Given the description of an element on the screen output the (x, y) to click on. 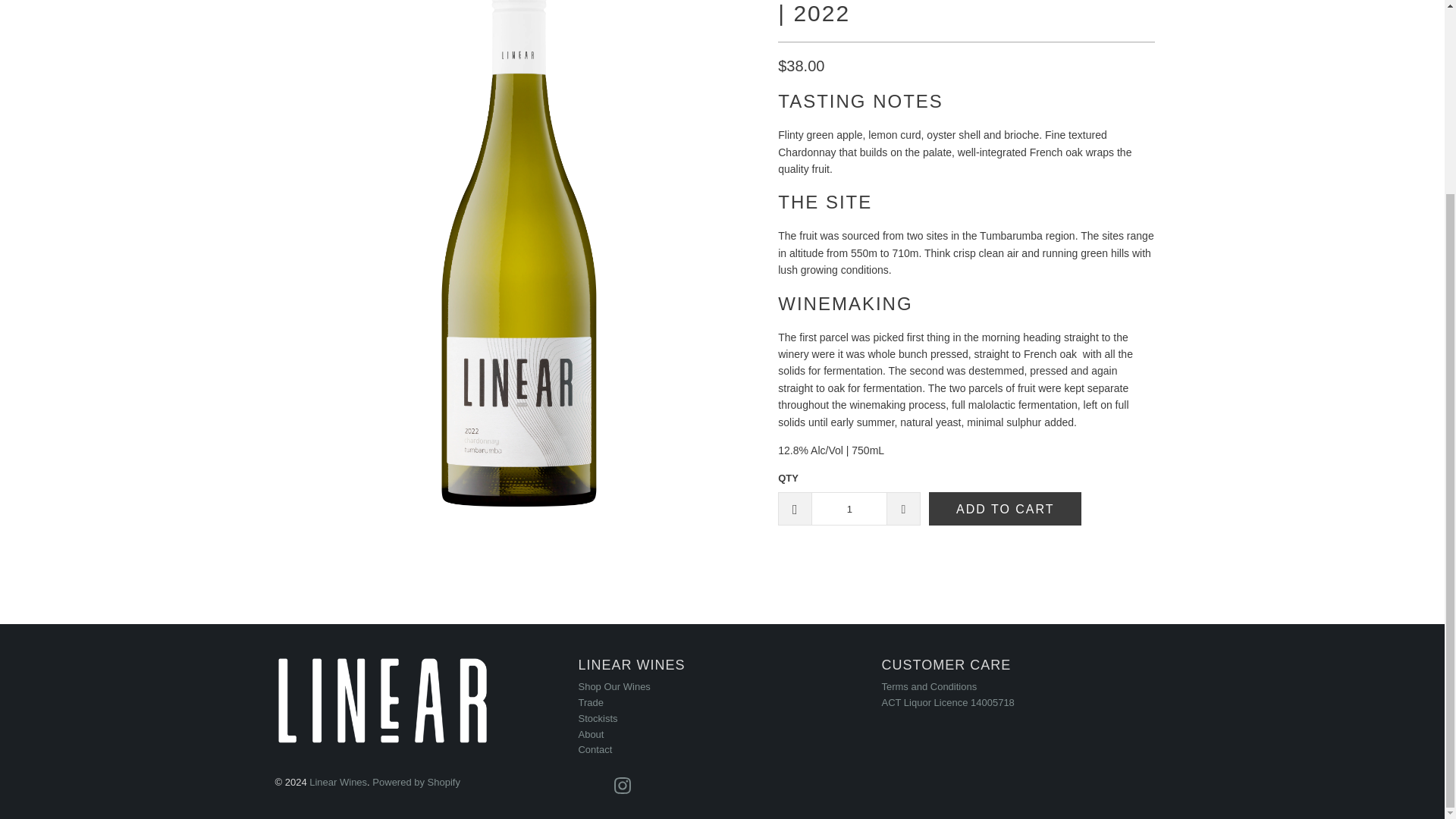
Trade (590, 702)
About (591, 734)
Terms and Conditions (928, 686)
Contact (594, 749)
1 (848, 508)
Linear Wines (337, 781)
ACT Liquor Licence 14005718 (946, 702)
Powered by Shopify (416, 781)
ADD TO CART (1004, 508)
Stockists (597, 717)
